Given the description of an element on the screen output the (x, y) to click on. 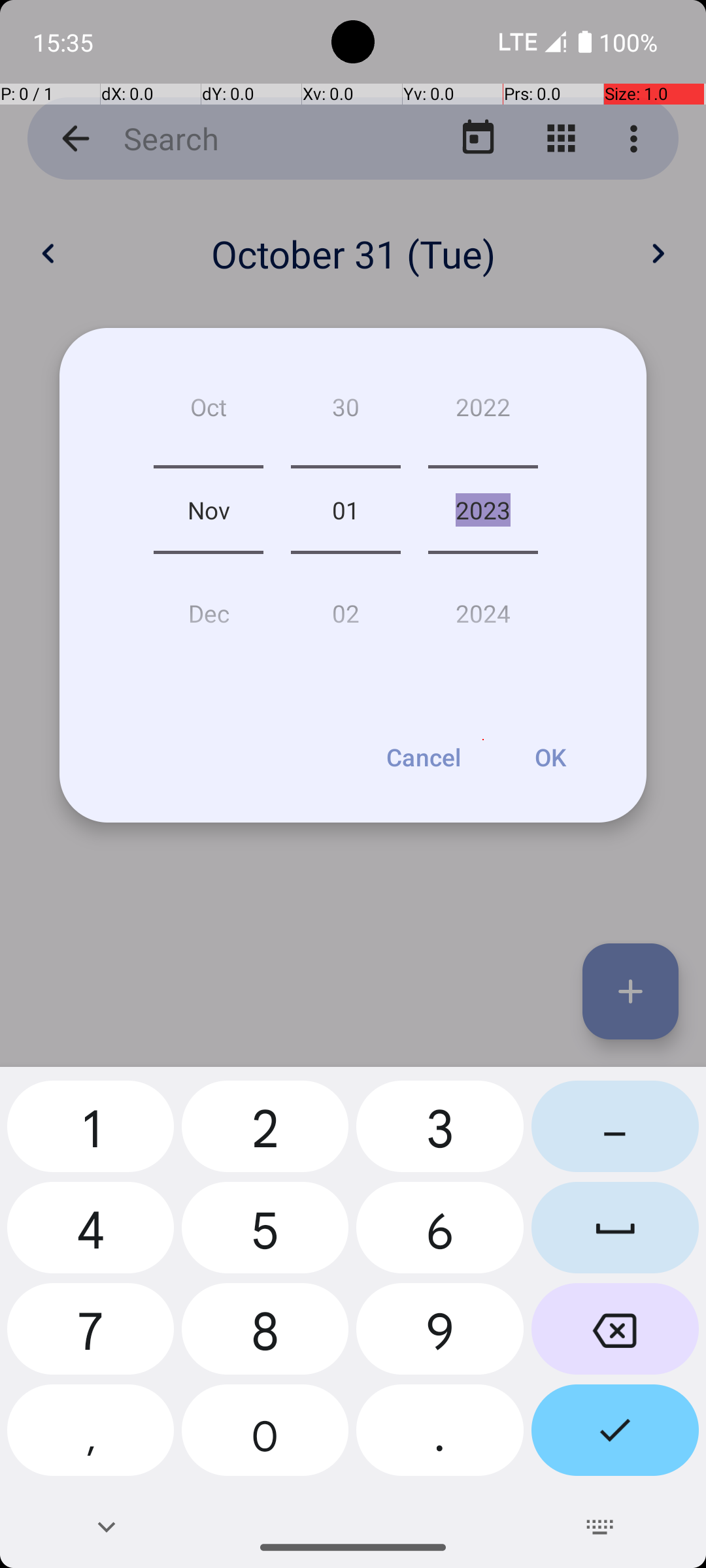
Dec Element type: android.widget.Button (208, 607)
02 Element type: android.widget.Button (345, 607)
